Given the description of an element on the screen output the (x, y) to click on. 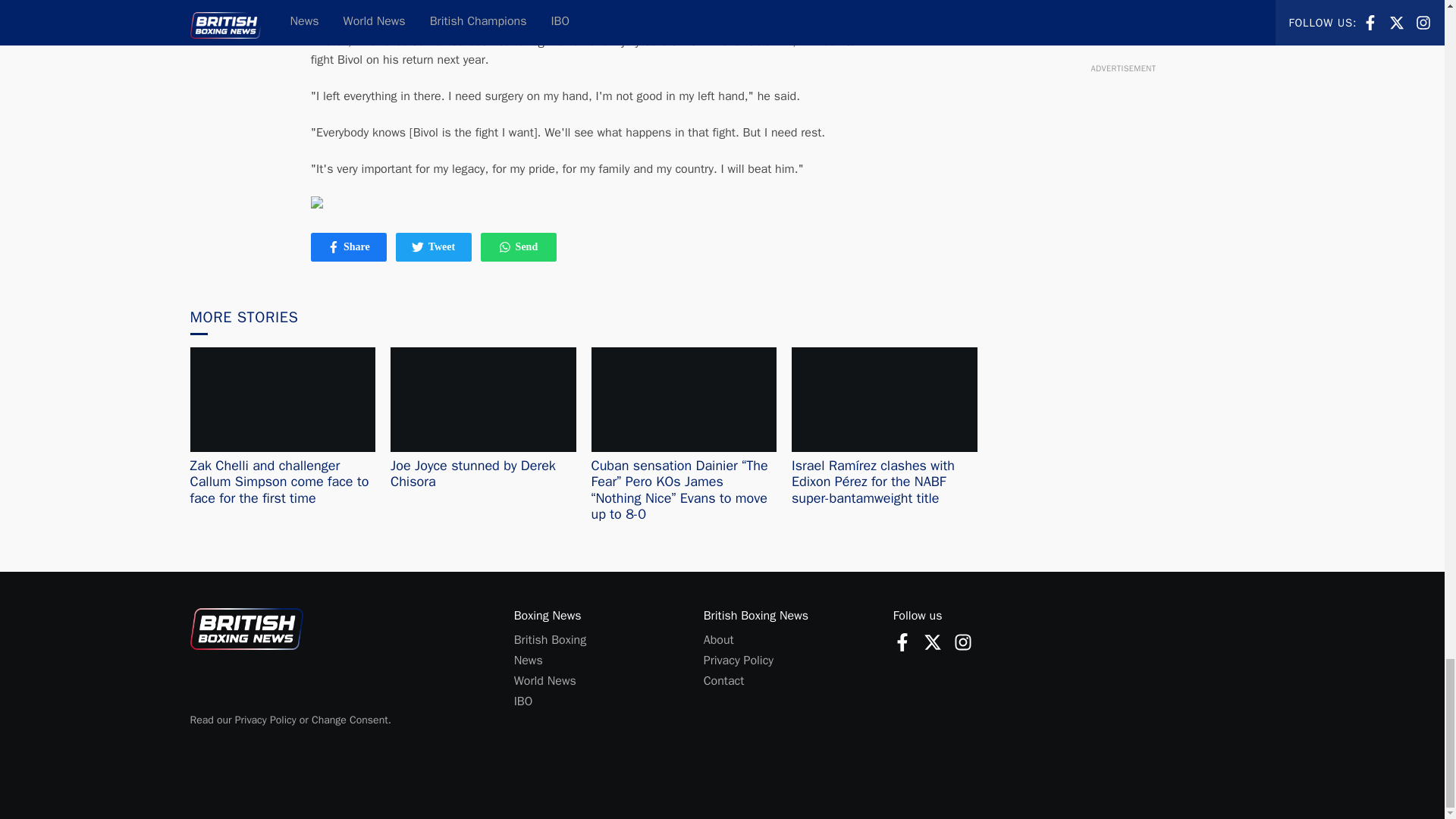
Facebook (932, 641)
News (333, 246)
Privacy Policy (528, 660)
World News (738, 660)
About (544, 680)
WhatsApp (718, 639)
Change Consent (505, 246)
Contact (349, 247)
British Boxing (349, 719)
Twitter (723, 680)
